Given the description of an element on the screen output the (x, y) to click on. 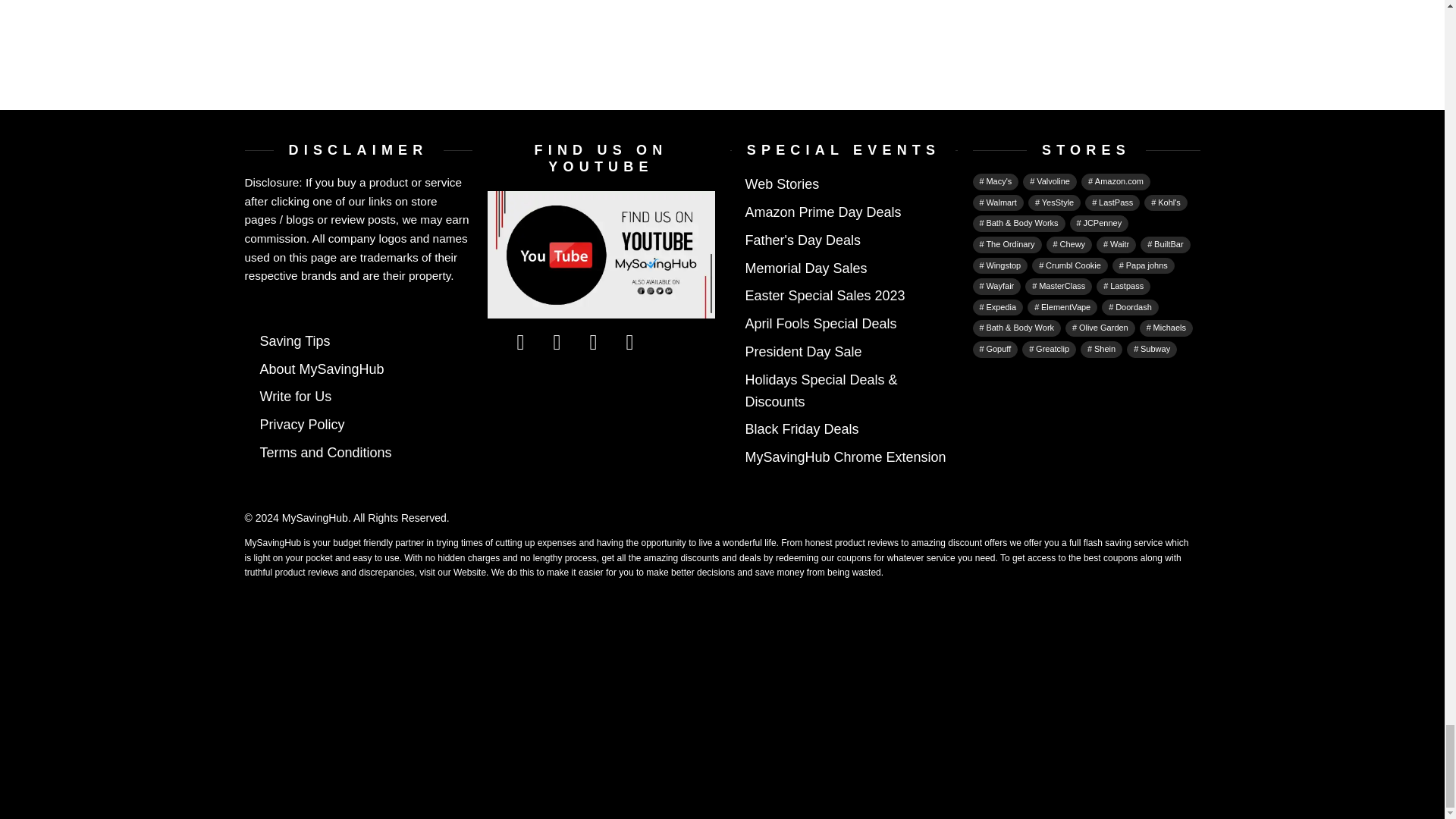
Visit YouTube channel (600, 254)
